Given the description of an element on the screen output the (x, y) to click on. 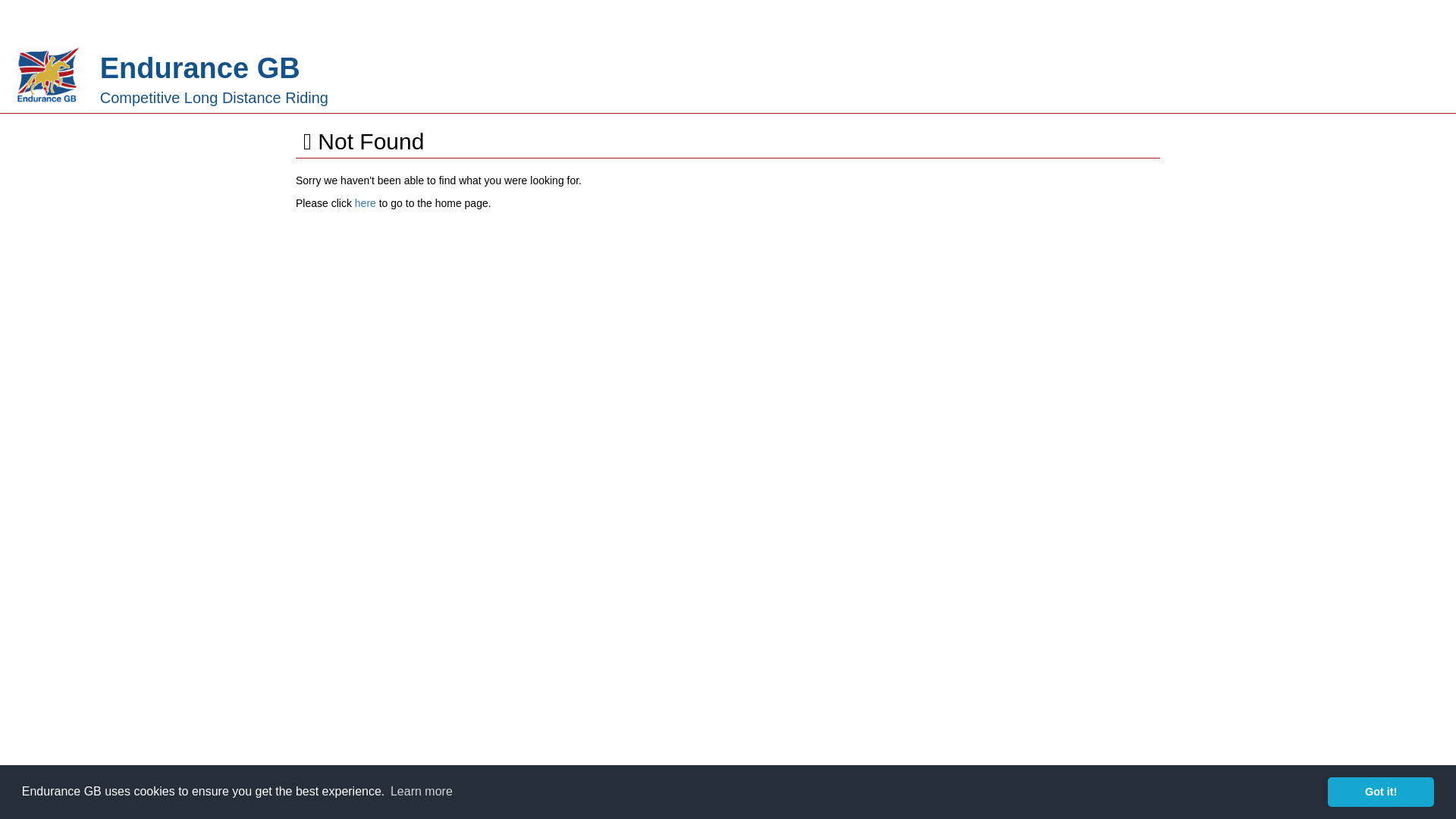
Got it! (1380, 791)
Simmetrics Ltd (640, 780)
Learn more (421, 791)
here (365, 203)
Simmetrics Ltd (640, 780)
Open Source Attribution (863, 780)
Privacy Policy (934, 792)
Privacy Policy (934, 792)
